Given the description of an element on the screen output the (x, y) to click on. 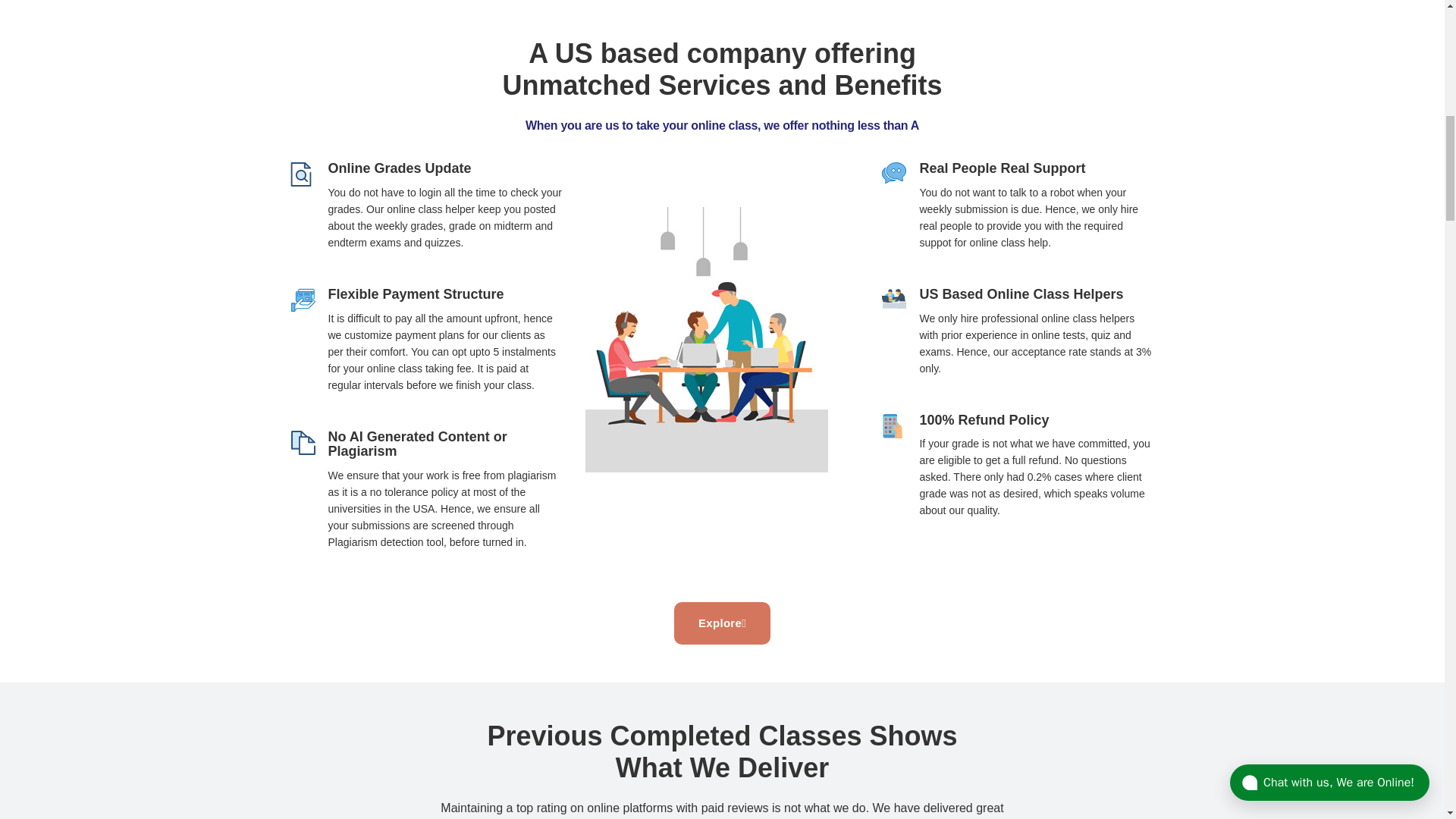
Explore (722, 622)
